Given the description of an element on the screen output the (x, y) to click on. 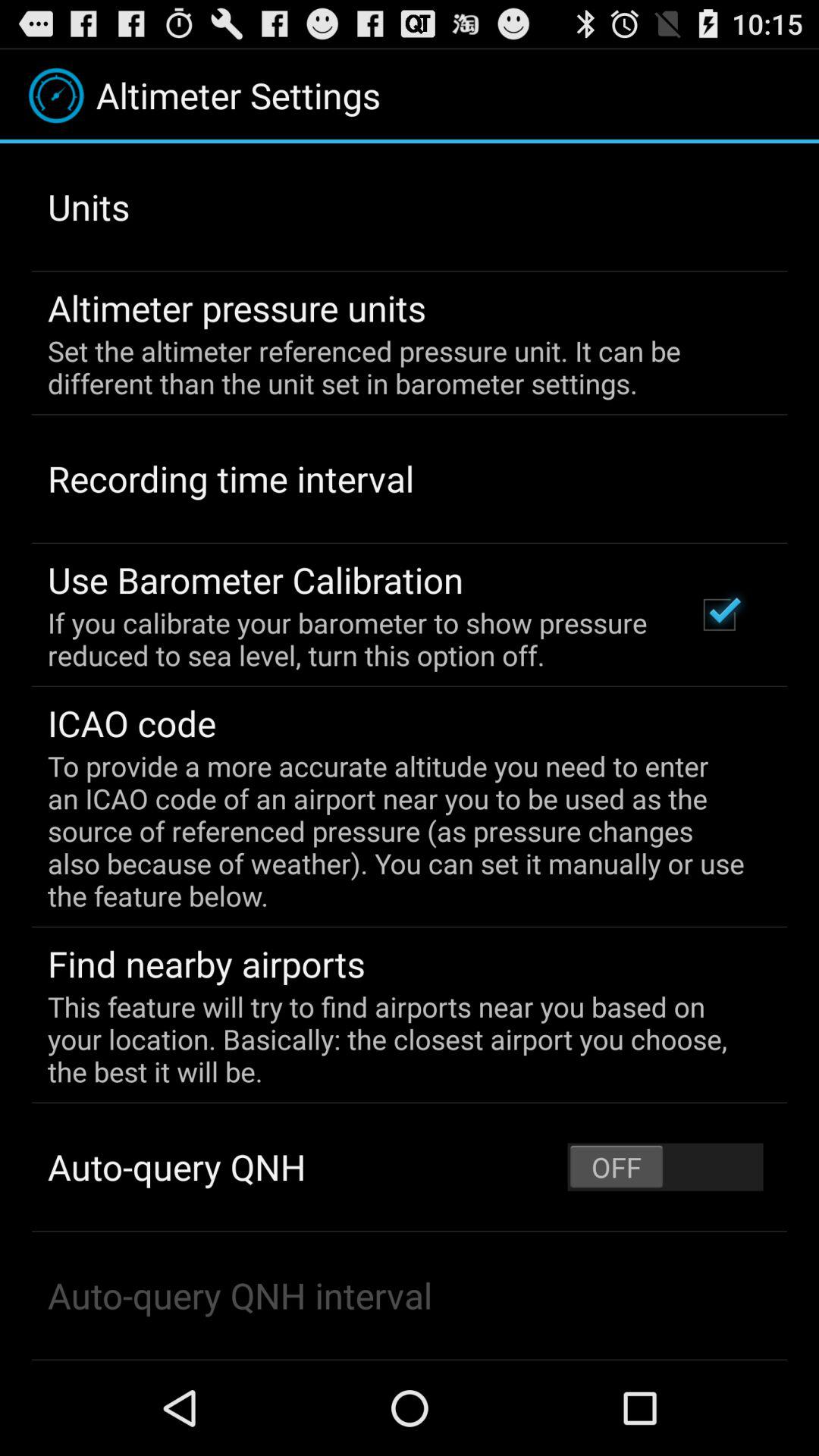
turn off item below the set the altimeter (230, 478)
